Given the description of an element on the screen output the (x, y) to click on. 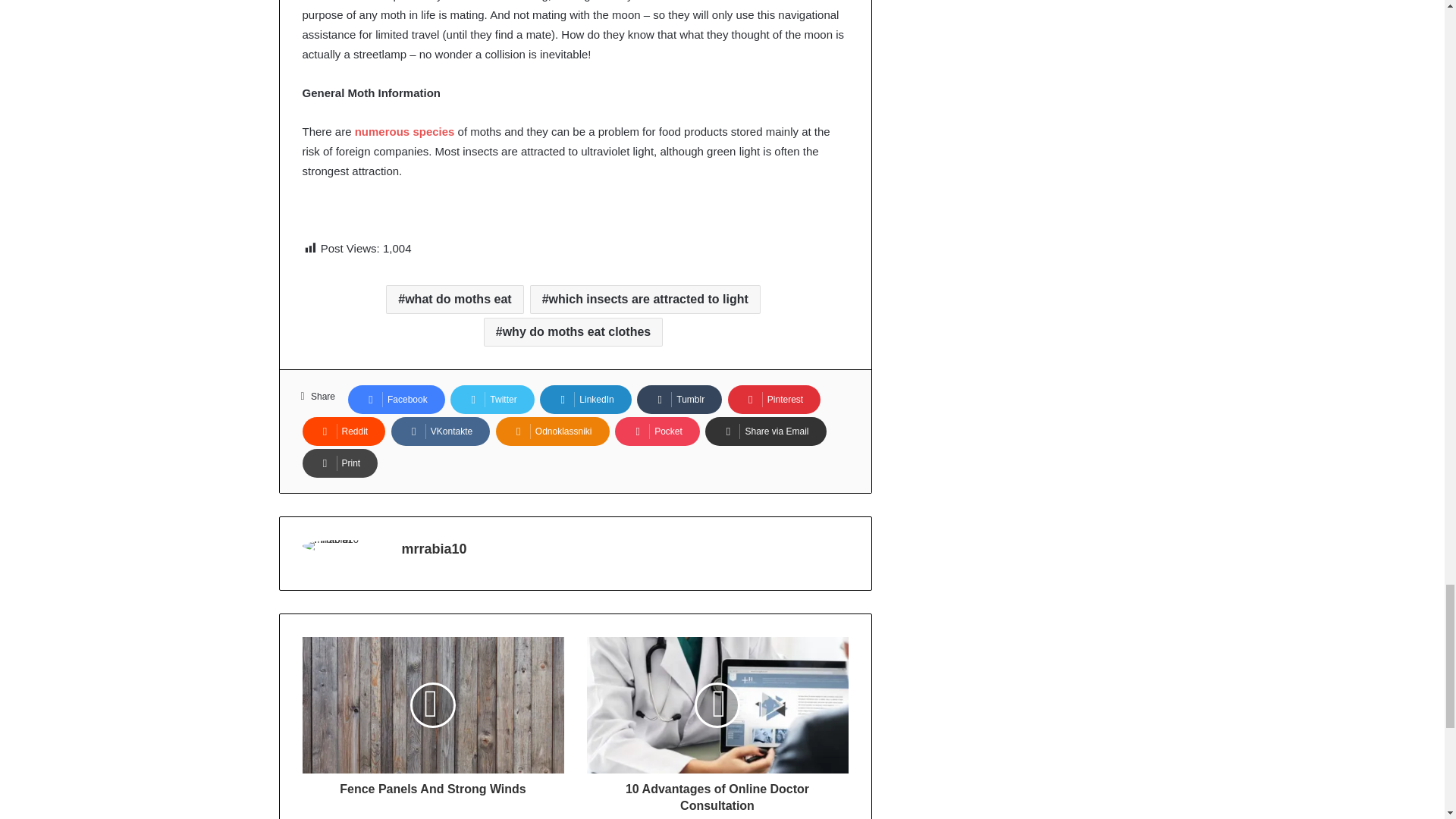
Twitter (491, 399)
Tumblr (679, 399)
Pinterest (774, 399)
Facebook (396, 399)
LinkedIn (585, 399)
